Given the description of an element on the screen output the (x, y) to click on. 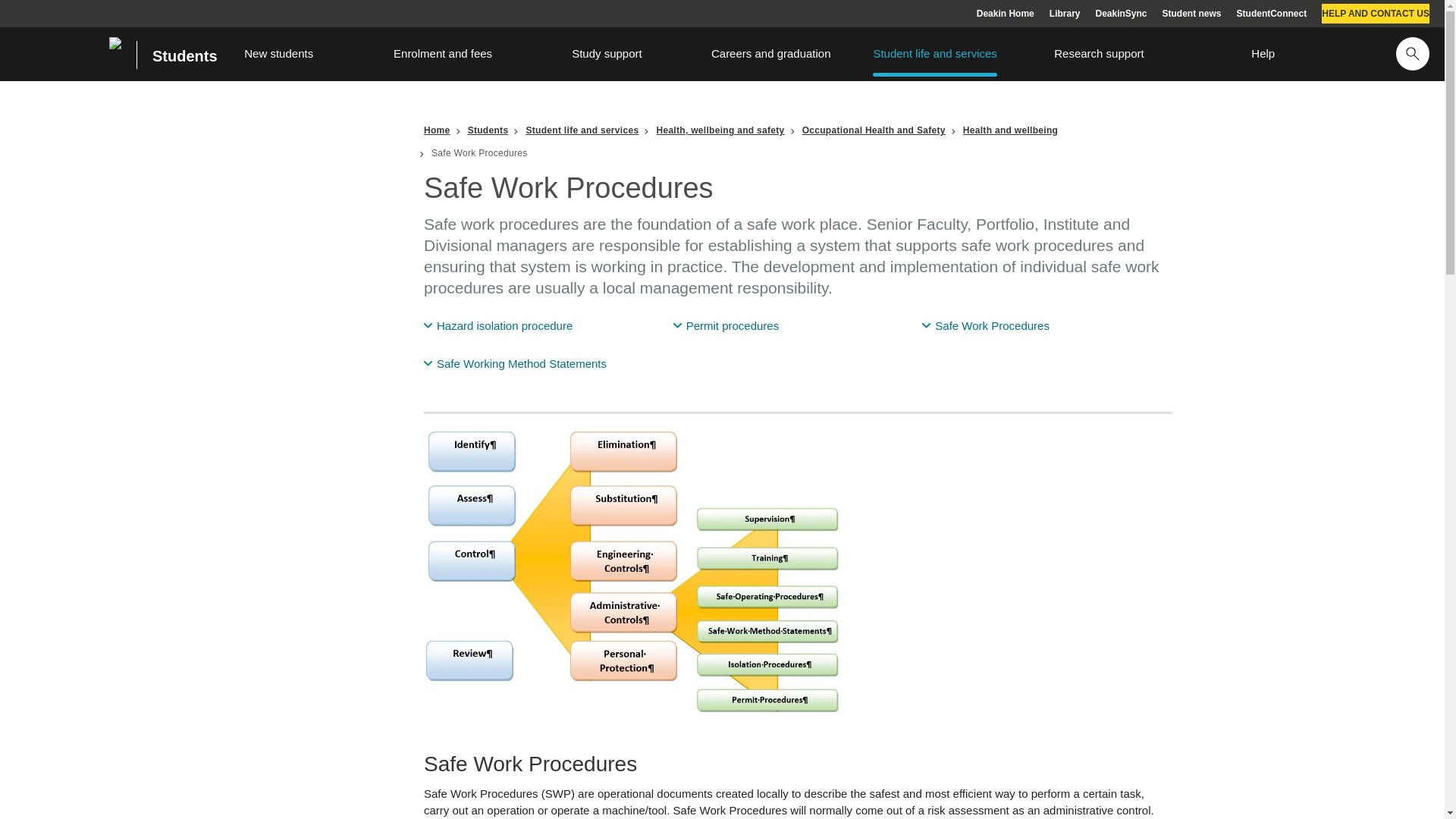
Help and contact us (1375, 13)
Visit DeakinSync (1120, 13)
Students (176, 54)
Visit the Library (1064, 13)
Visit DeakinLife (1191, 13)
Visit Deakin University Australia (1004, 13)
New students (278, 53)
Visit StudentConnect (1271, 13)
